Given the description of an element on the screen output the (x, y) to click on. 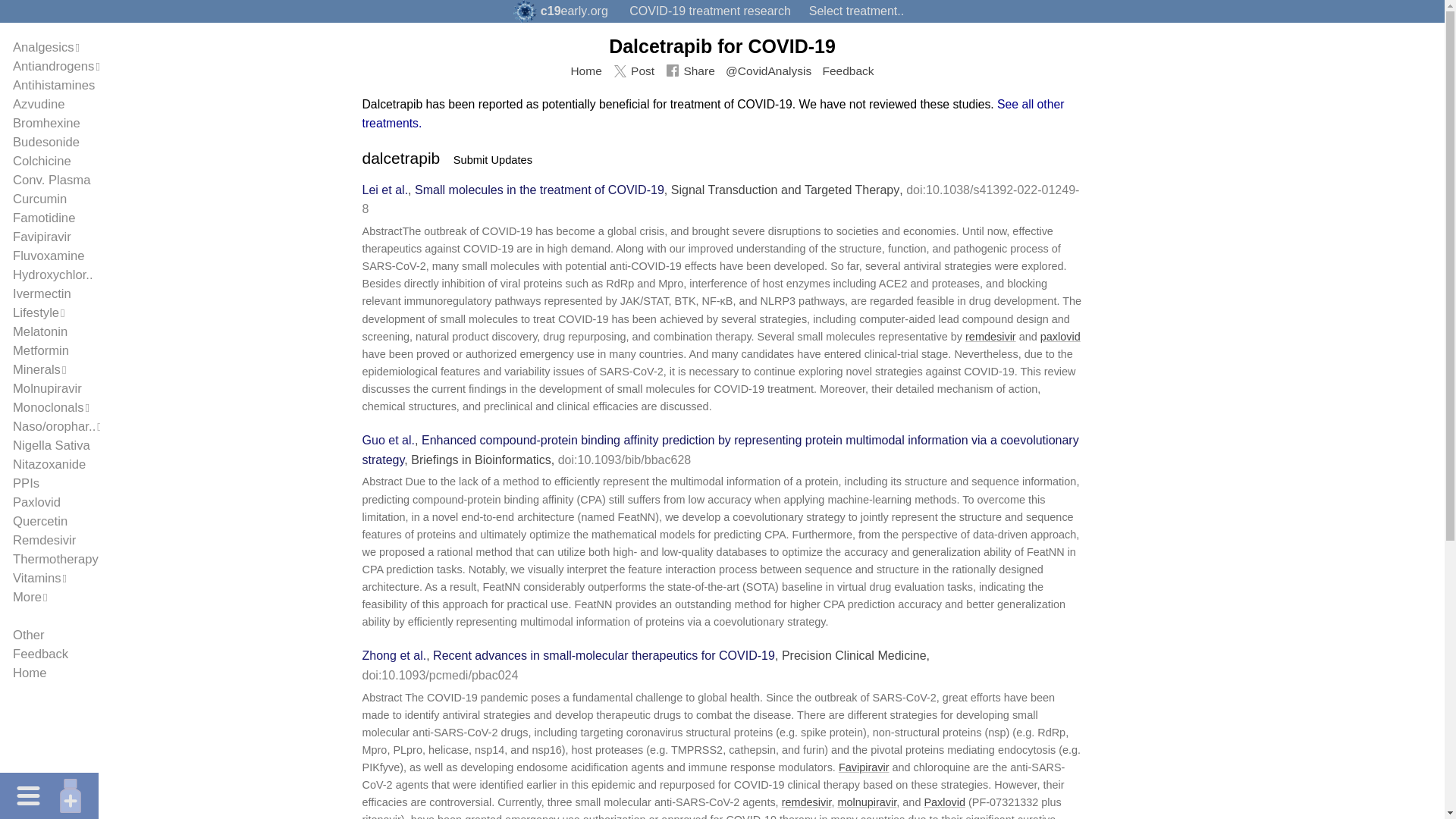
Minerals (37, 369)
Curcumin (39, 198)
Metformin (40, 350)
Favipiravir (42, 237)
Monoclonals (48, 407)
Lifestyle (36, 312)
Analgesics (43, 47)
Famotidine (44, 217)
Conv. Plasma (51, 179)
Budesonide (46, 142)
Ivermectin (42, 293)
Bromhexine (46, 123)
Melatonin (39, 331)
Colchicine (42, 160)
Hydroxychlor.. (53, 274)
